Given the description of an element on the screen output the (x, y) to click on. 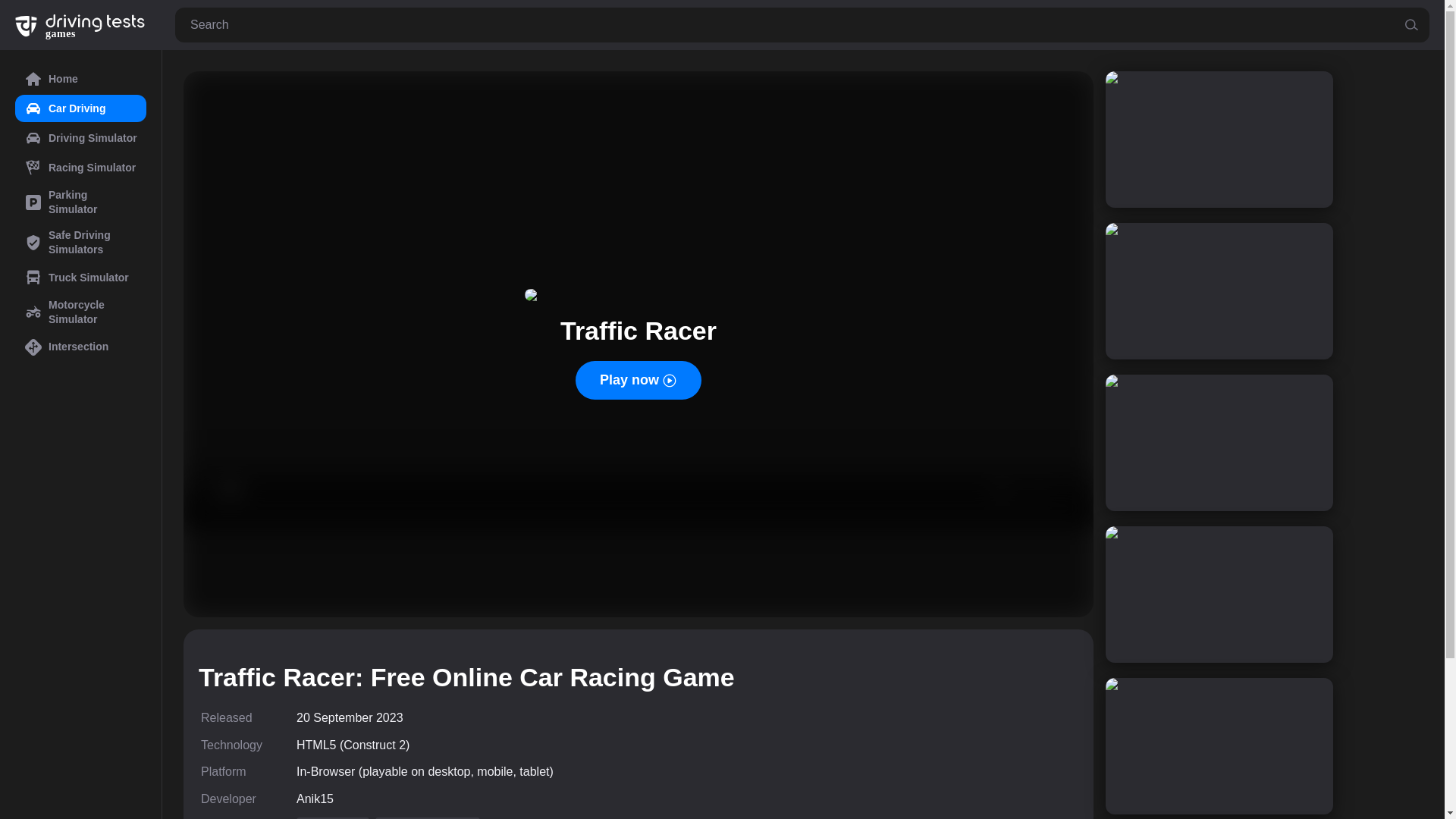
games (79, 24)
Racing Simulator (427, 818)
Driving Simulator (80, 137)
Parking Simulator (80, 202)
Car Driving (333, 818)
Racing Simulator (80, 166)
Car Driving (80, 108)
Home (80, 78)
Motorcycle Simulator (80, 312)
Safe Driving Simulators (80, 242)
